Given the description of an element on the screen output the (x, y) to click on. 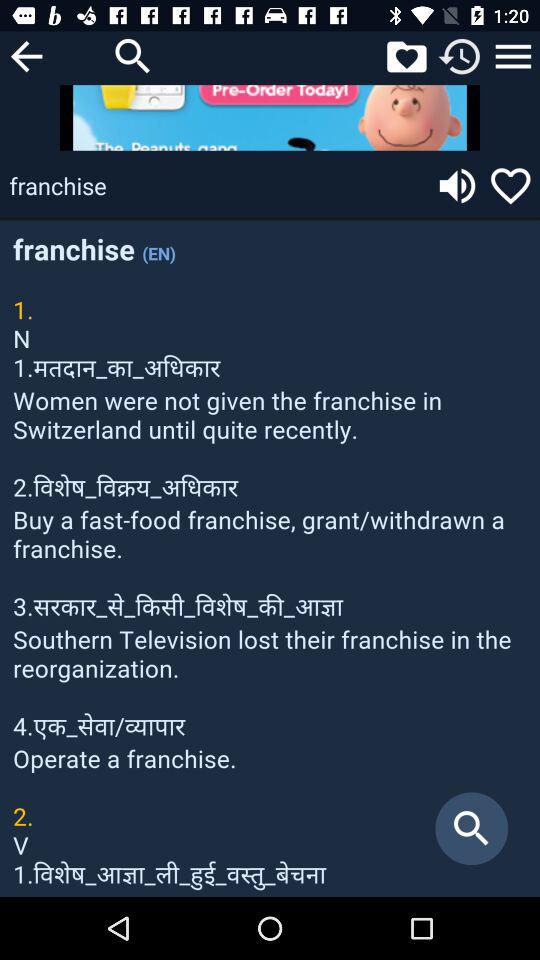
go to favorite (510, 185)
